Given the description of an element on the screen output the (x, y) to click on. 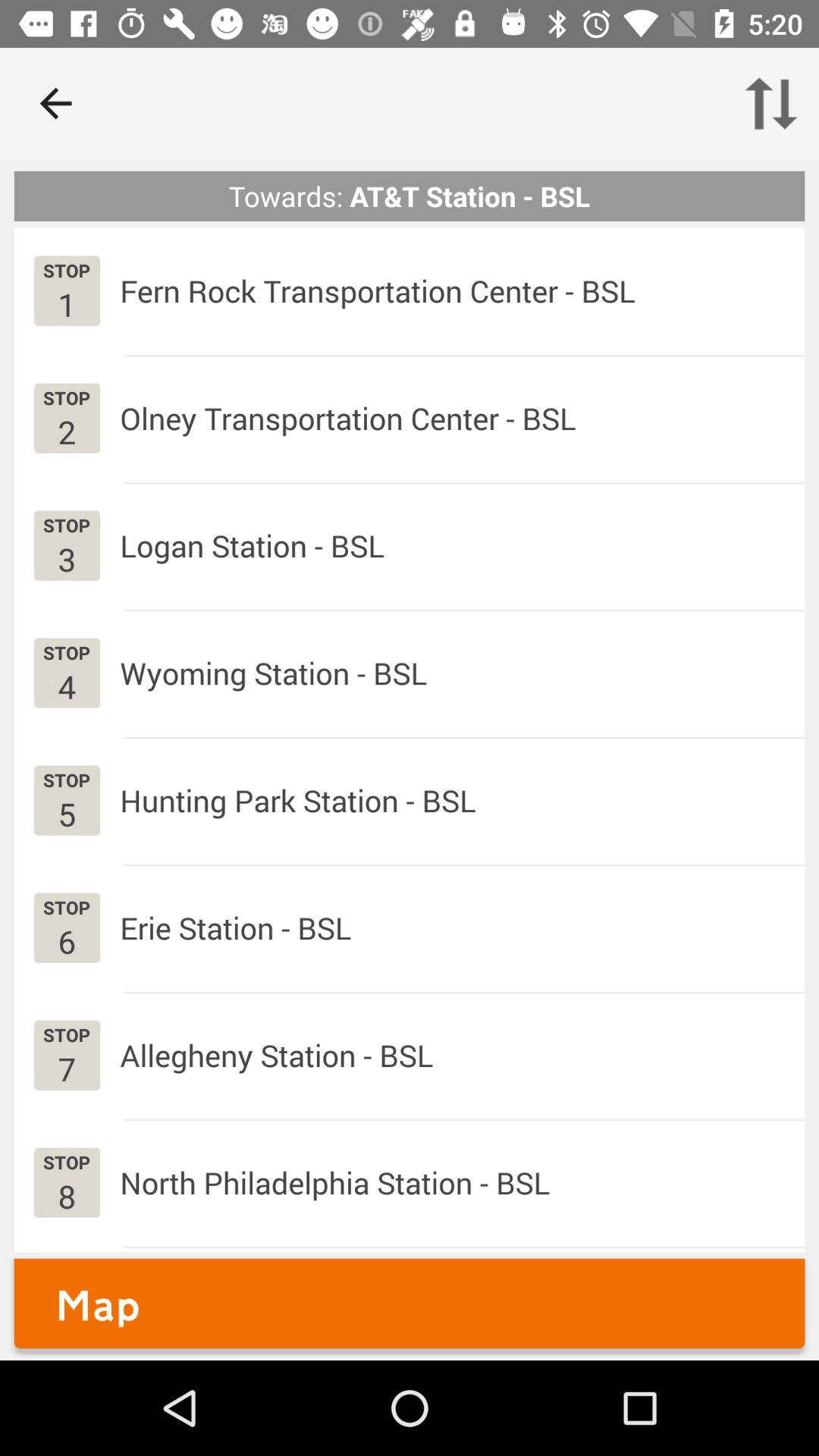
choose app next to wyoming station - bsl app (66, 686)
